Given the description of an element on the screen output the (x, y) to click on. 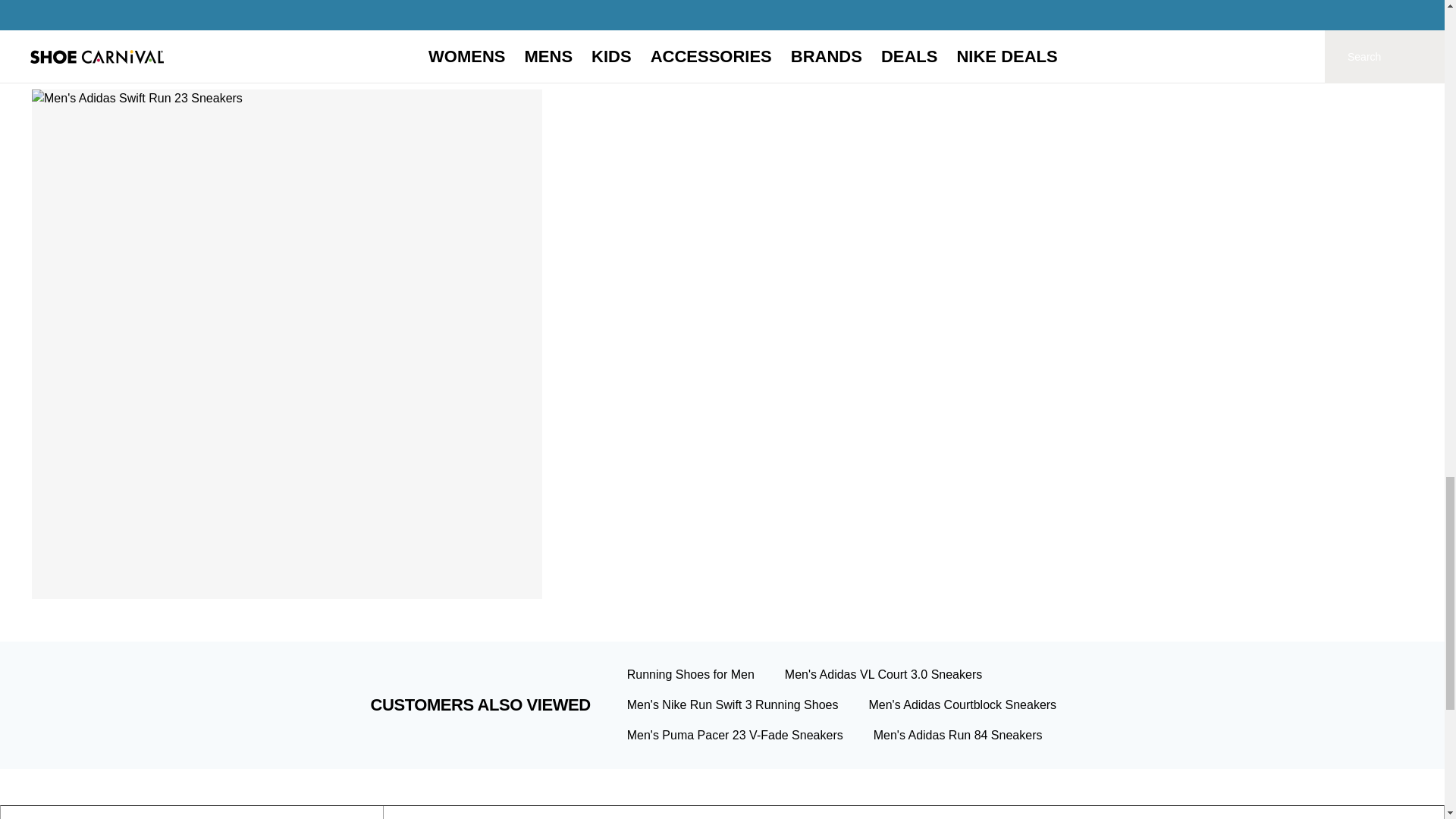
Men's Adidas VL Court 3.0 Sneakers (882, 674)
Men's Adidas Courtblock Sneakers (962, 704)
Men's Nike Run Swift 3 Running Shoes (732, 704)
Men's Puma Pacer 23 V-Fade Sneakers (735, 735)
Running Shoes for Men (690, 674)
